Given the description of an element on the screen output the (x, y) to click on. 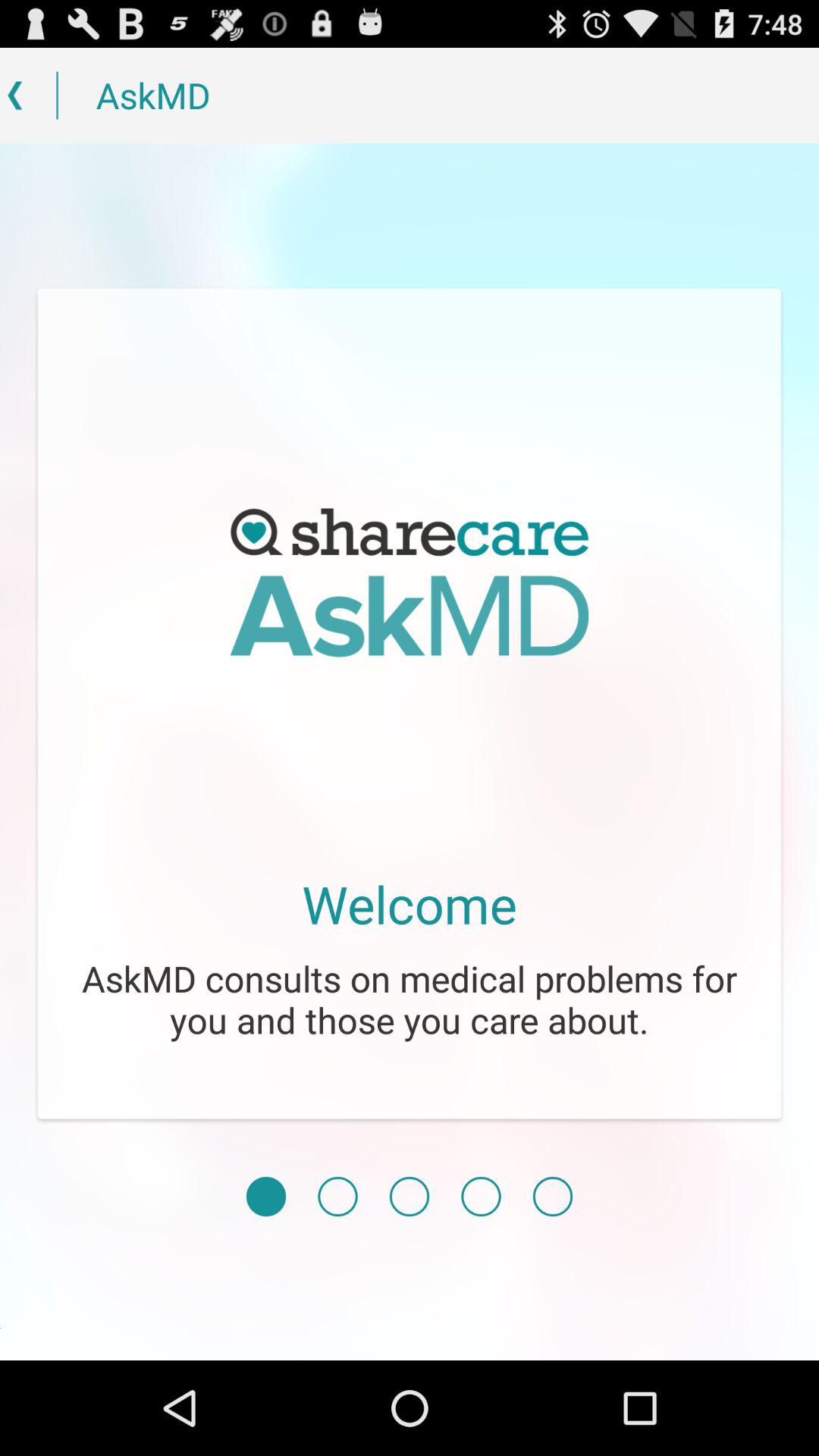
click the item below the askmd consults on (266, 1196)
